Given the description of an element on the screen output the (x, y) to click on. 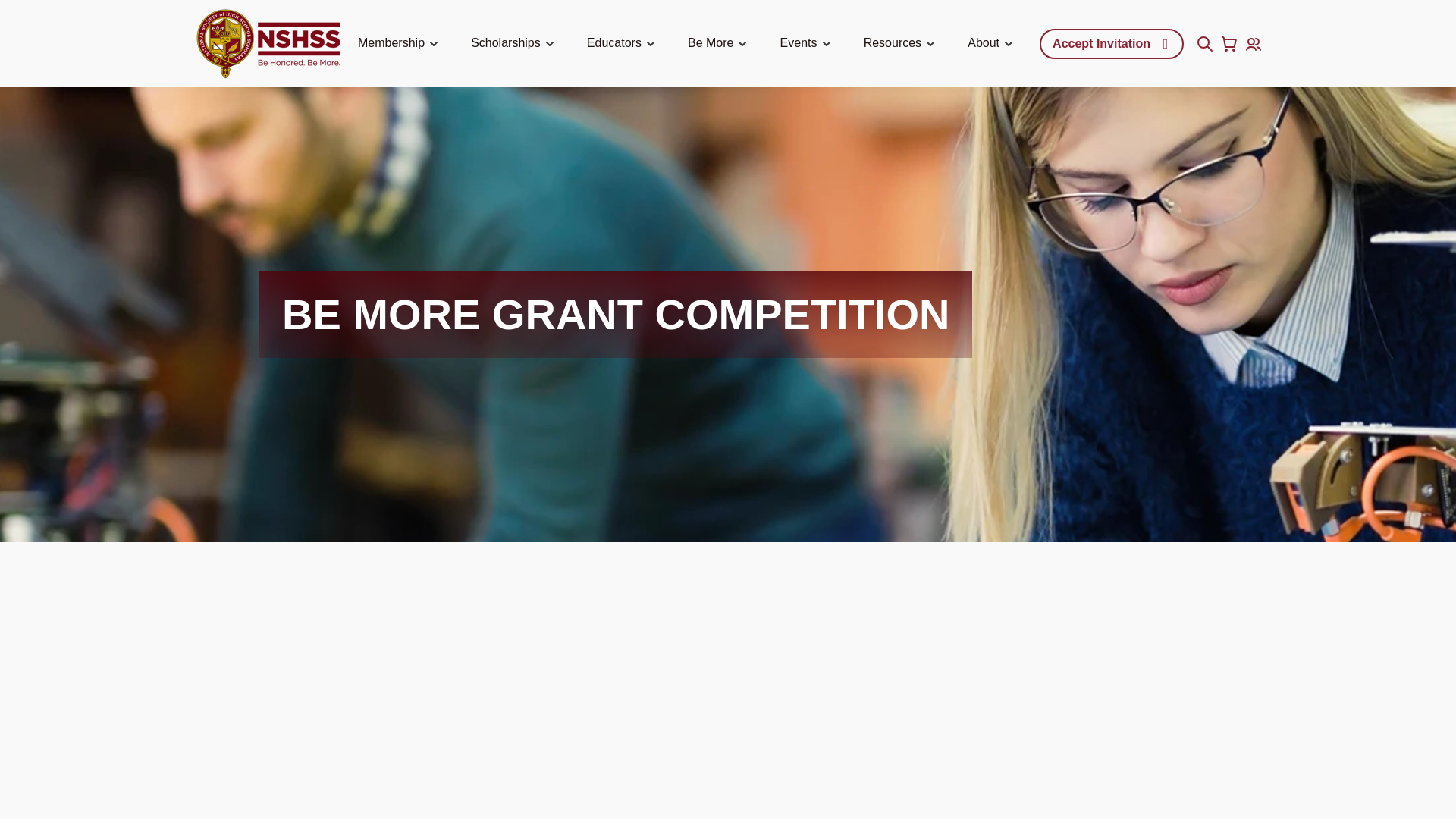
Search (1204, 44)
Membership (399, 43)
Educators (623, 43)
Scholarships (514, 43)
Be More (719, 43)
Member Login (1253, 44)
Store (1229, 44)
